Given the description of an element on the screen output the (x, y) to click on. 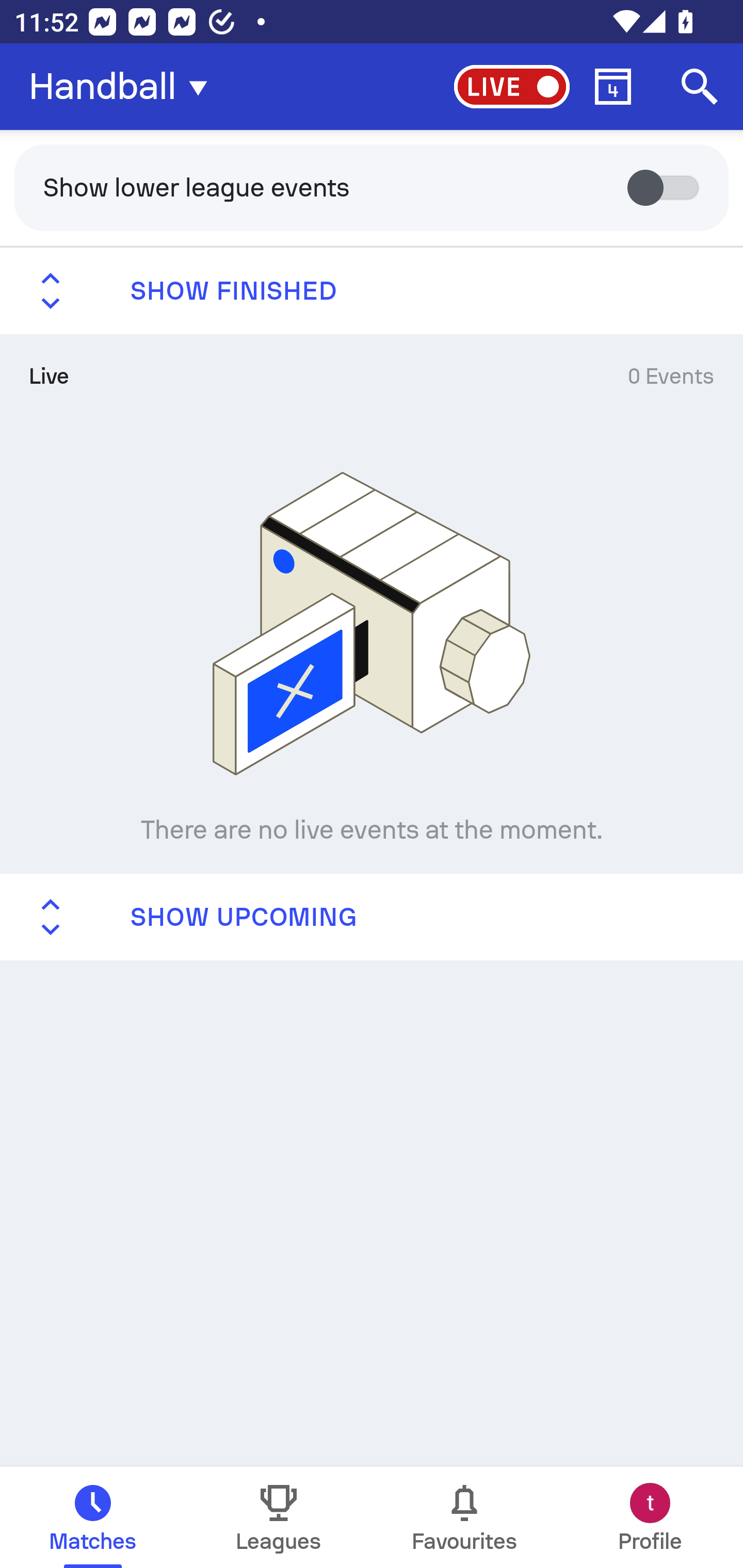
Handball (124, 86)
Calendar (612, 86)
Search (699, 86)
Show lower league events (371, 187)
SHOW FINISHED (371, 290)
SHOW UPCOMING (371, 916)
Leagues (278, 1517)
Favourites (464, 1517)
Profile (650, 1517)
